Given the description of an element on the screen output the (x, y) to click on. 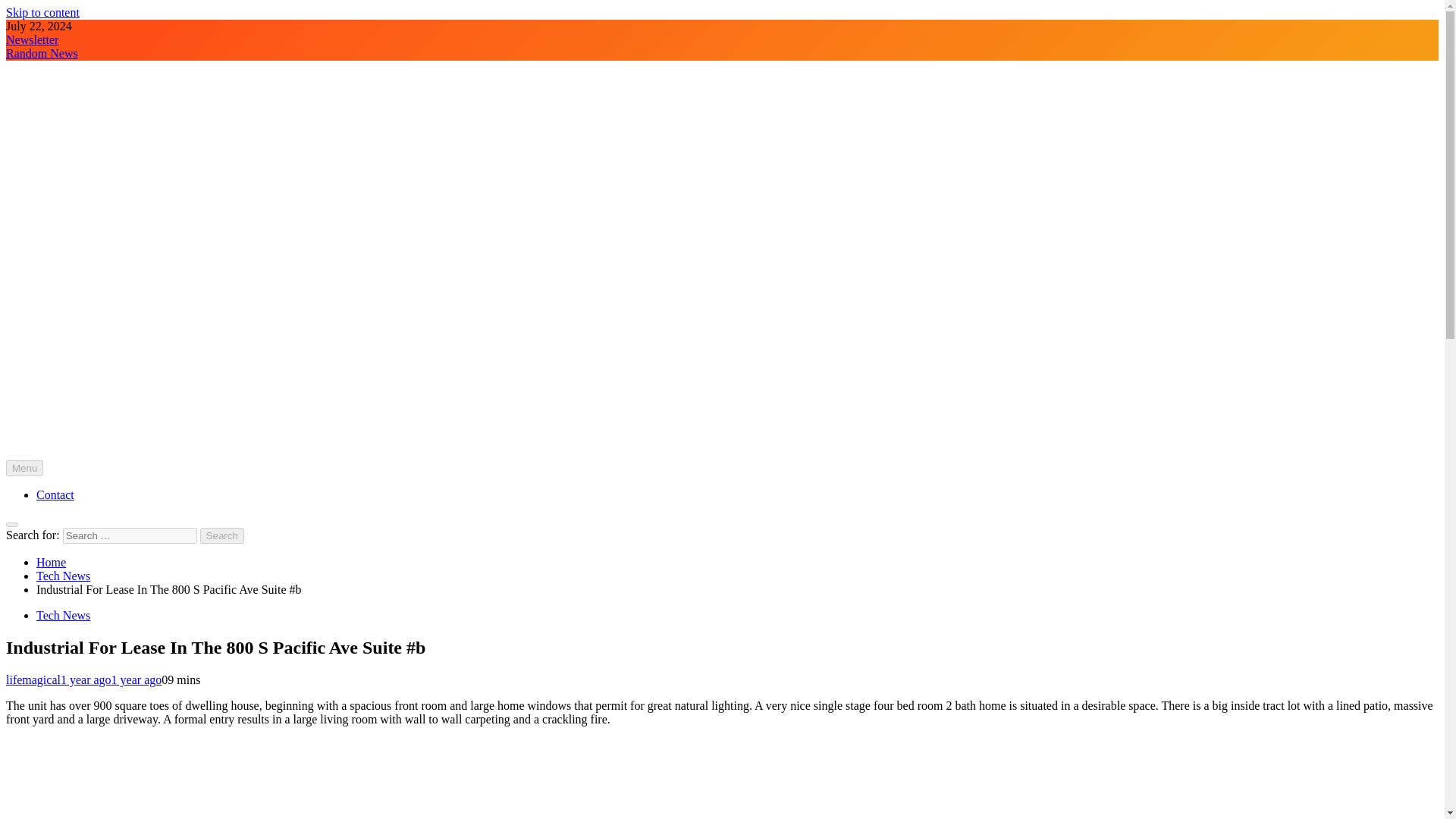
1 year ago1 year ago (111, 679)
Menu (24, 467)
Home (50, 562)
Random News (41, 52)
Life Magical (36, 478)
Contact (55, 494)
Search (222, 535)
Search (222, 535)
lifemagical (33, 679)
Skip to content (42, 11)
Newsletter (31, 39)
Tech News (63, 615)
Search (222, 535)
Tech News (63, 575)
